Given the description of an element on the screen output the (x, y) to click on. 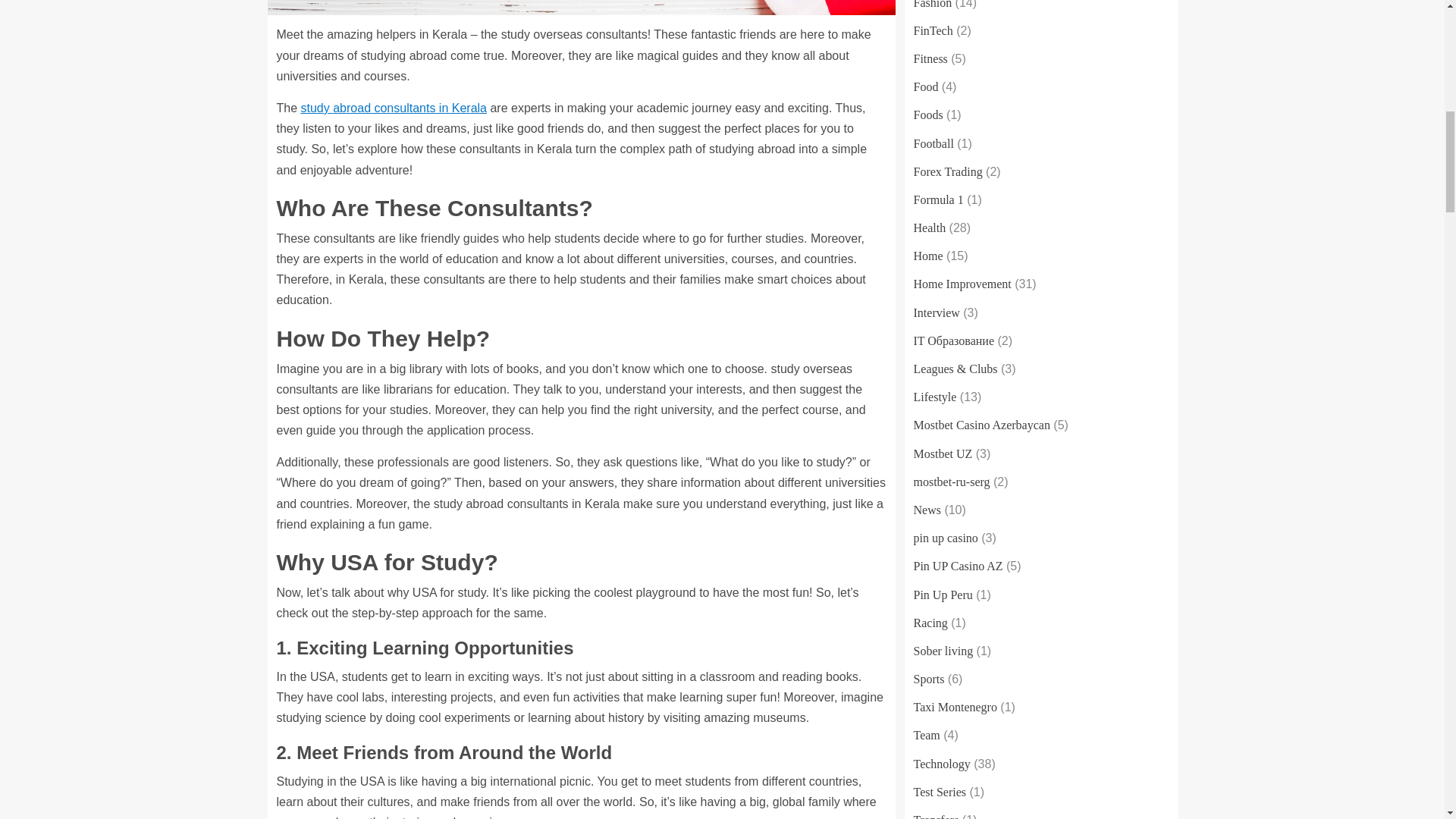
study abroad consultants in Kerala (393, 107)
